Given the description of an element on the screen output the (x, y) to click on. 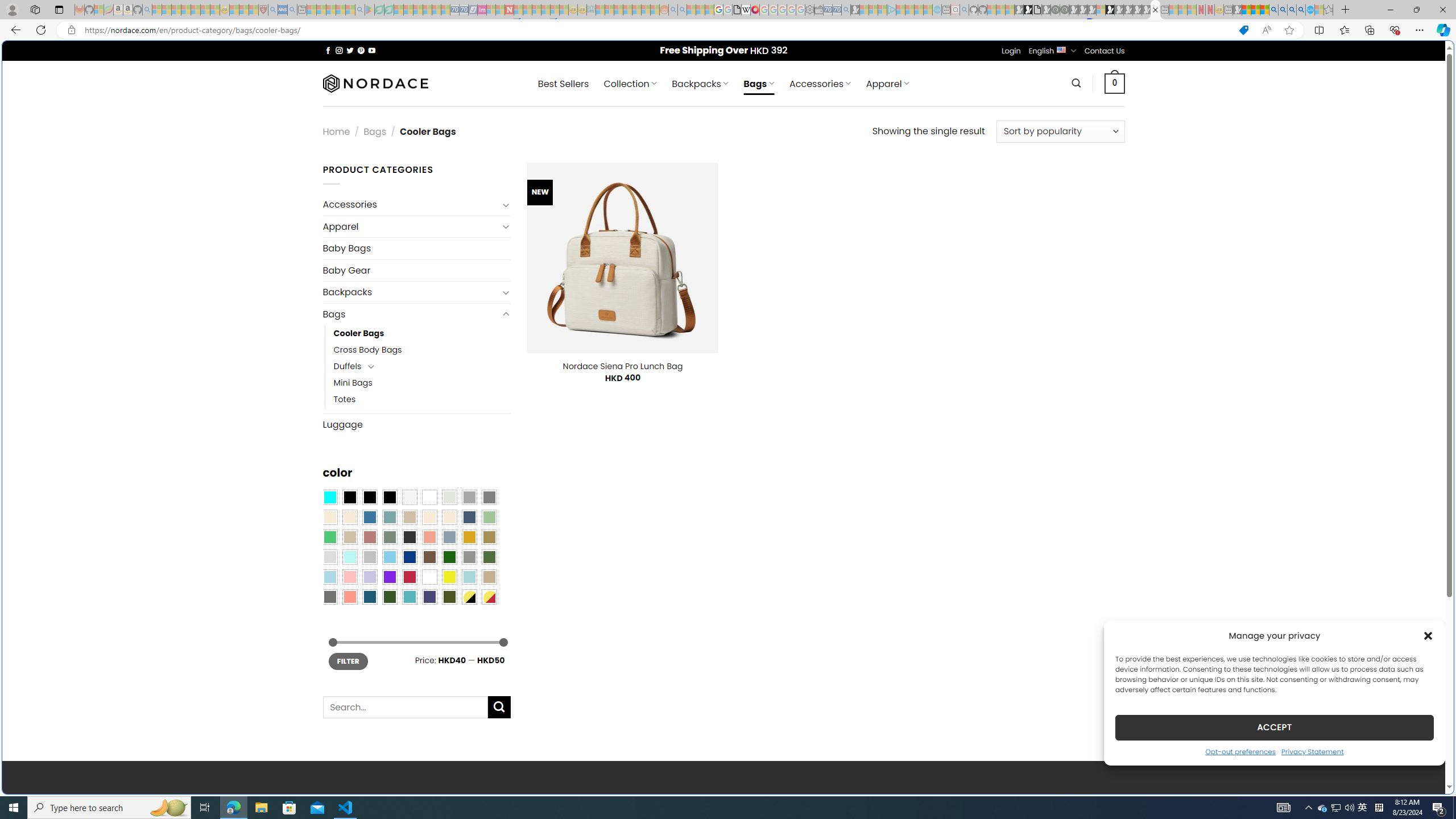
Search for: (404, 707)
Login (1010, 50)
Tabs you've opened (885, 151)
Light Purple (369, 577)
MSN - Sleeping (1236, 9)
Submit (499, 707)
